Given the description of an element on the screen output the (x, y) to click on. 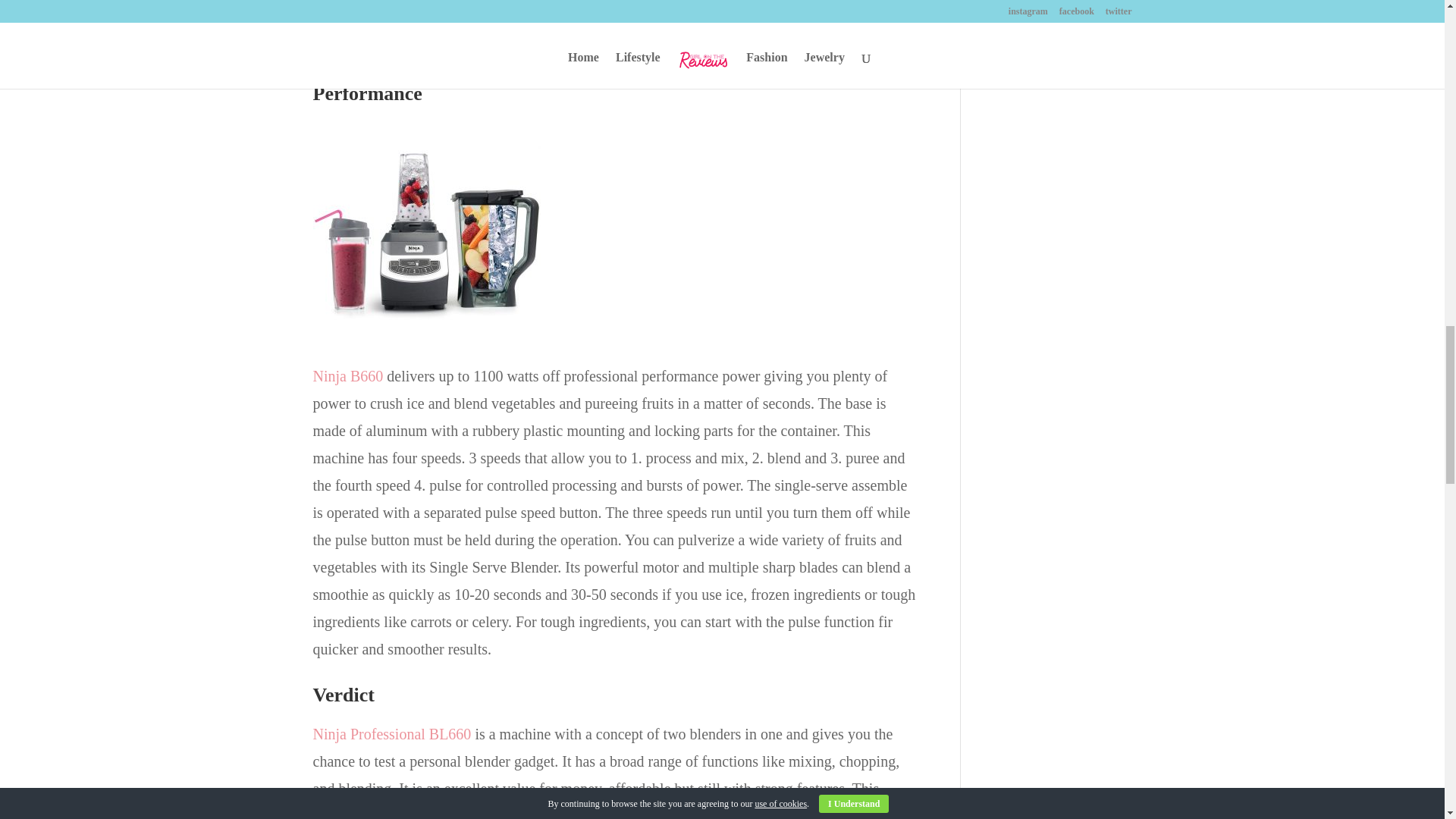
Ninja Professional BL660 (391, 733)
Ninja B660 (347, 375)
